Given the description of an element on the screen output the (x, y) to click on. 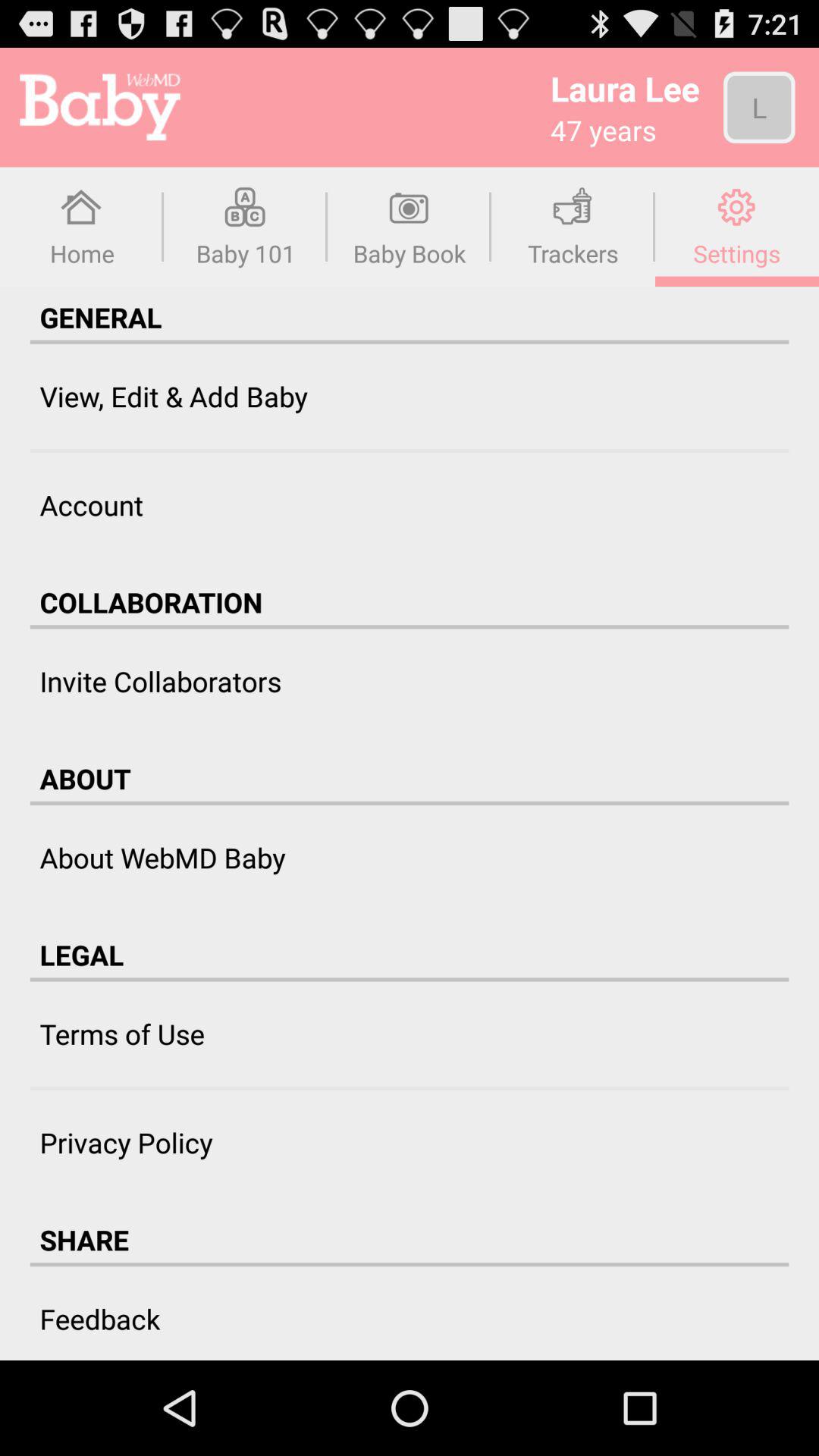
press icon below the privacy policy (84, 1239)
